Given the description of an element on the screen output the (x, y) to click on. 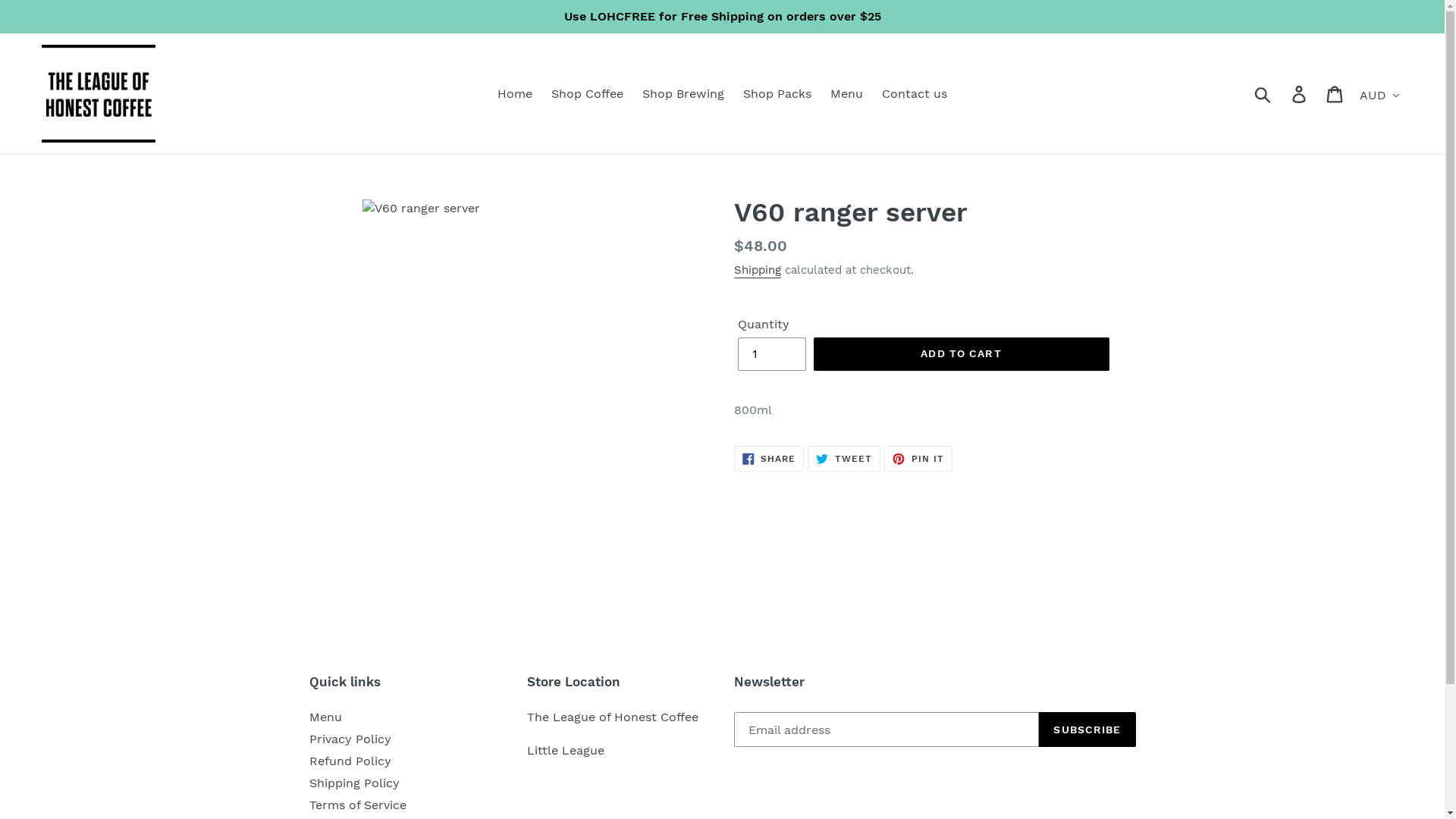
Contact us Element type: text (914, 93)
Log in Element type: text (1299, 93)
Shop Coffee Element type: text (586, 93)
Privacy Policy Element type: text (350, 739)
SUBSCRIBE Element type: text (1086, 729)
Little League Element type: text (565, 750)
Shop Packs Element type: text (777, 93)
ADD TO CART Element type: text (960, 353)
The League of Honest Coffee Element type: text (612, 717)
Cart Element type: text (1335, 93)
Menu Element type: text (325, 717)
Menu Element type: text (846, 93)
Home Element type: text (514, 93)
Shop Brewing Element type: text (682, 93)
Shipping Policy Element type: text (354, 783)
Submit Element type: text (1263, 93)
Shipping Element type: text (757, 271)
PIN IT
PIN ON PINTEREST Element type: text (918, 458)
TWEET
TWEET ON TWITTER Element type: text (843, 458)
Refund Policy Element type: text (350, 761)
SHARE
SHARE ON FACEBOOK Element type: text (769, 458)
Terms of Service Element type: text (357, 805)
